Given the description of an element on the screen output the (x, y) to click on. 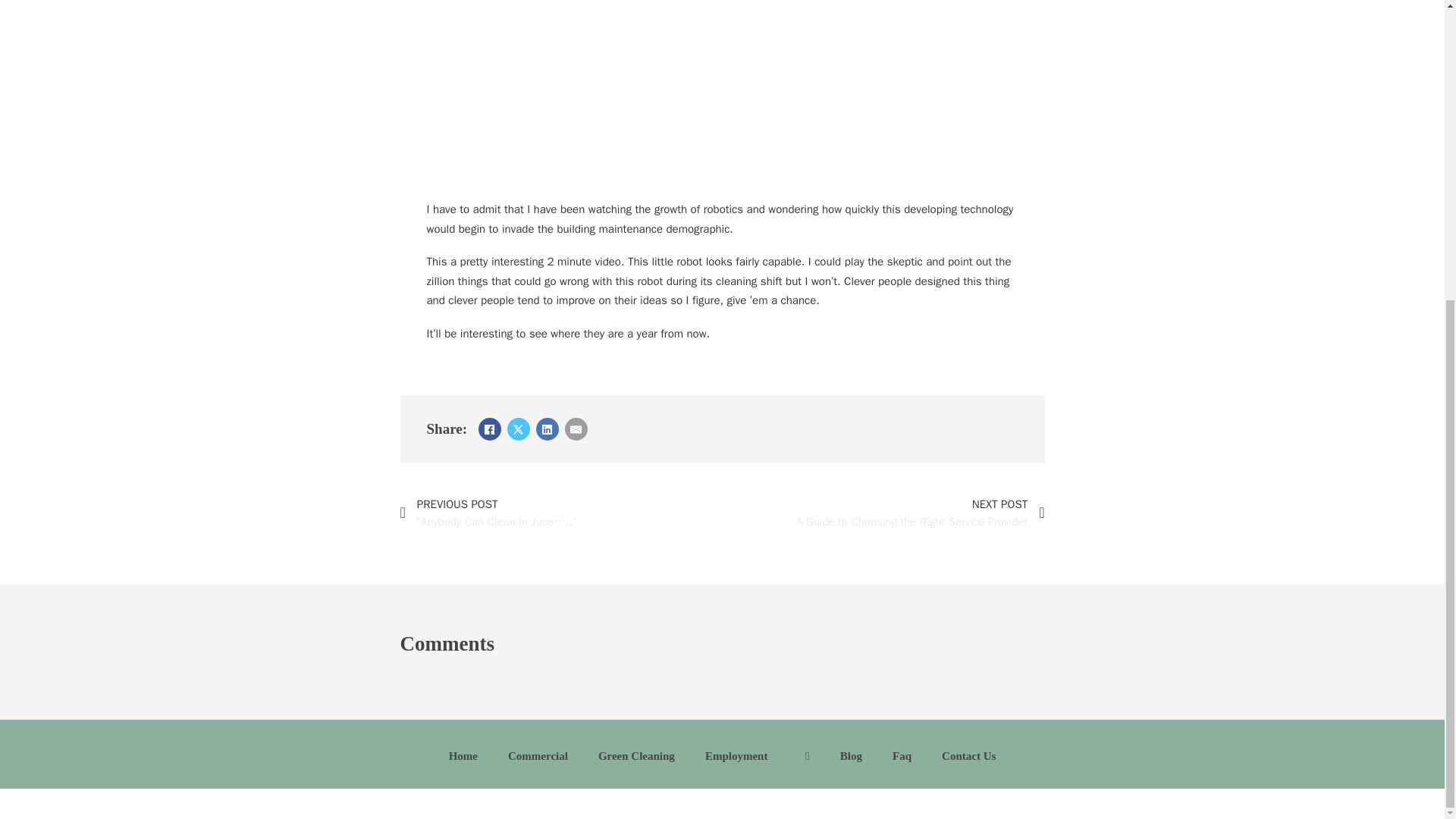
Employment (736, 756)
Home (463, 756)
Green Cleaning (636, 756)
Blog (851, 756)
Commercial (538, 756)
Faq (899, 512)
Contact Us (901, 756)
Robots Are Taking Over The Bathrooms! (968, 756)
